Given the description of an element on the screen output the (x, y) to click on. 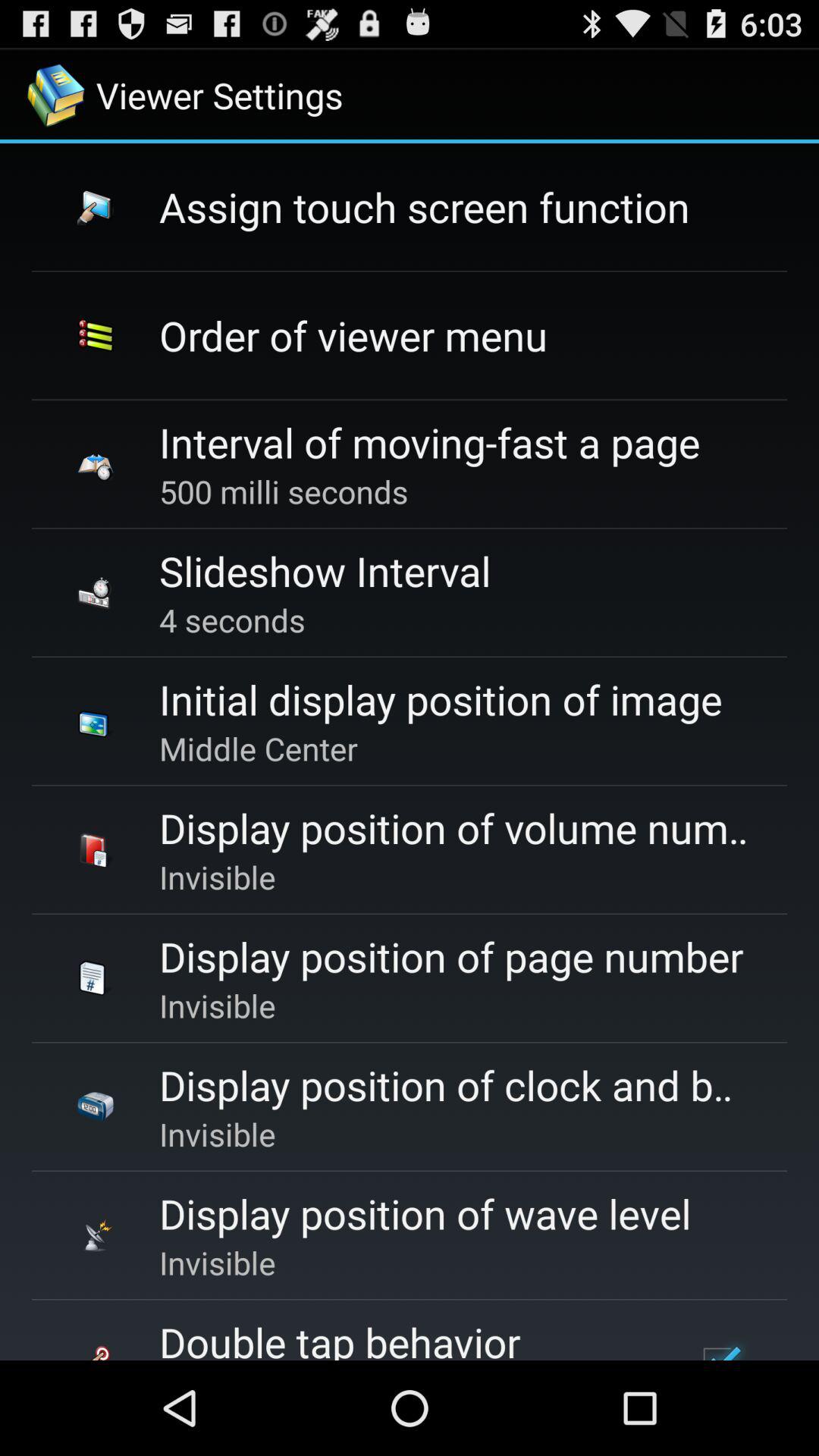
turn on the app to the right of the double tap behavior icon (719, 1346)
